Given the description of an element on the screen output the (x, y) to click on. 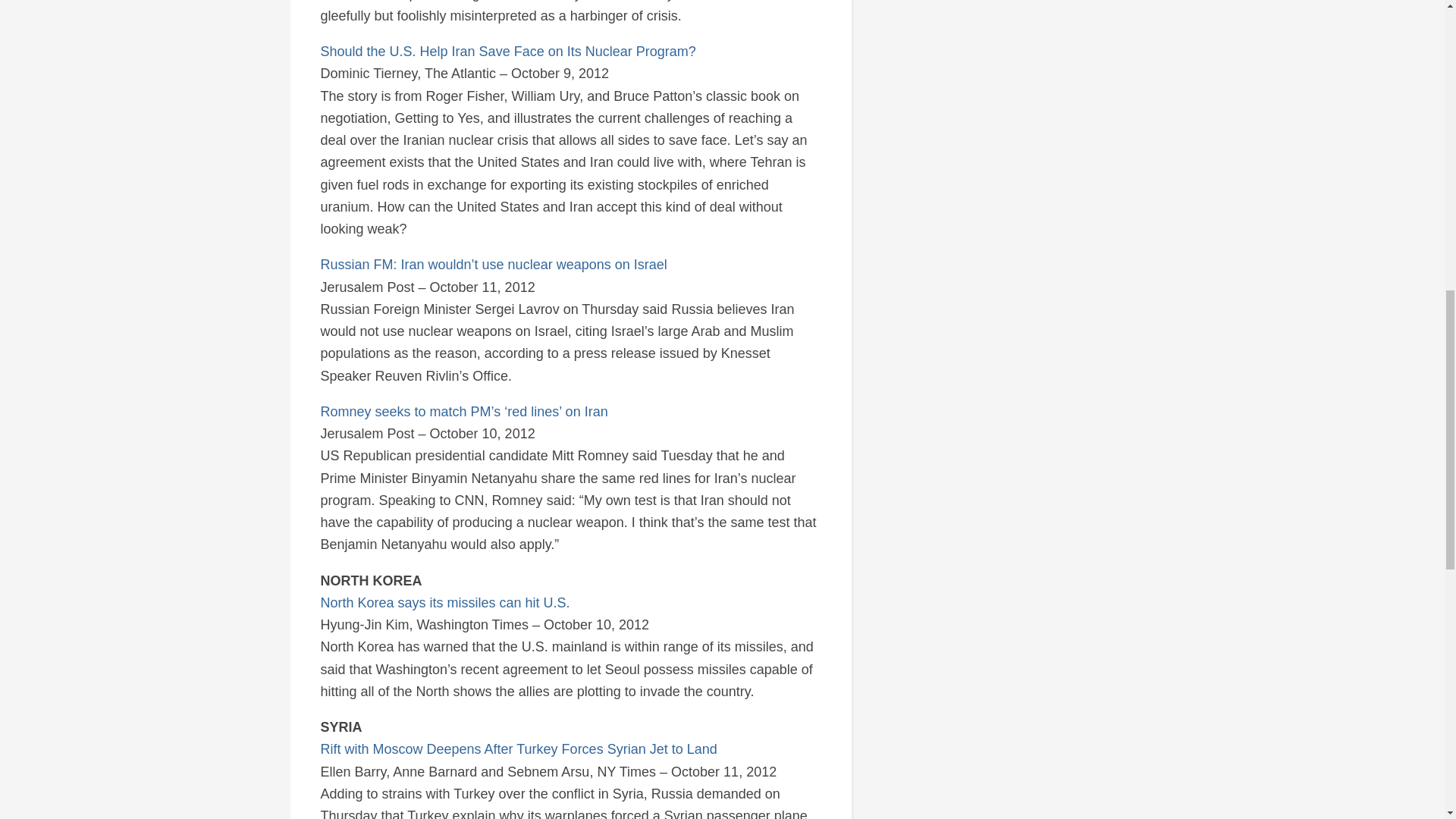
North Korea says its missiles can hit U.S. (444, 602)
Should the U.S. Help Iran Save Face on Its Nuclear Program? (507, 51)
